Given the description of an element on the screen output the (x, y) to click on. 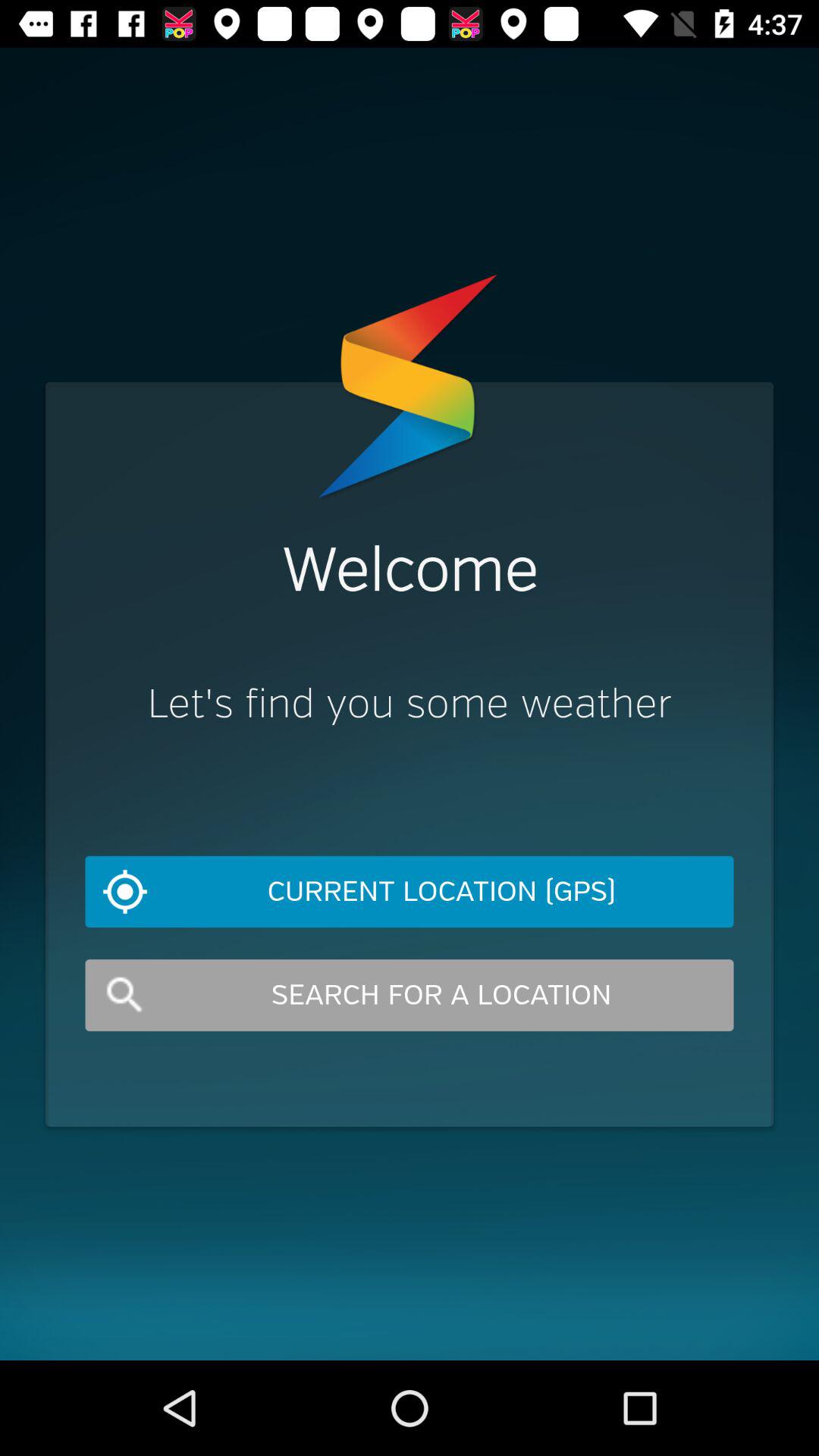
choose search for a item (409, 995)
